Given the description of an element on the screen output the (x, y) to click on. 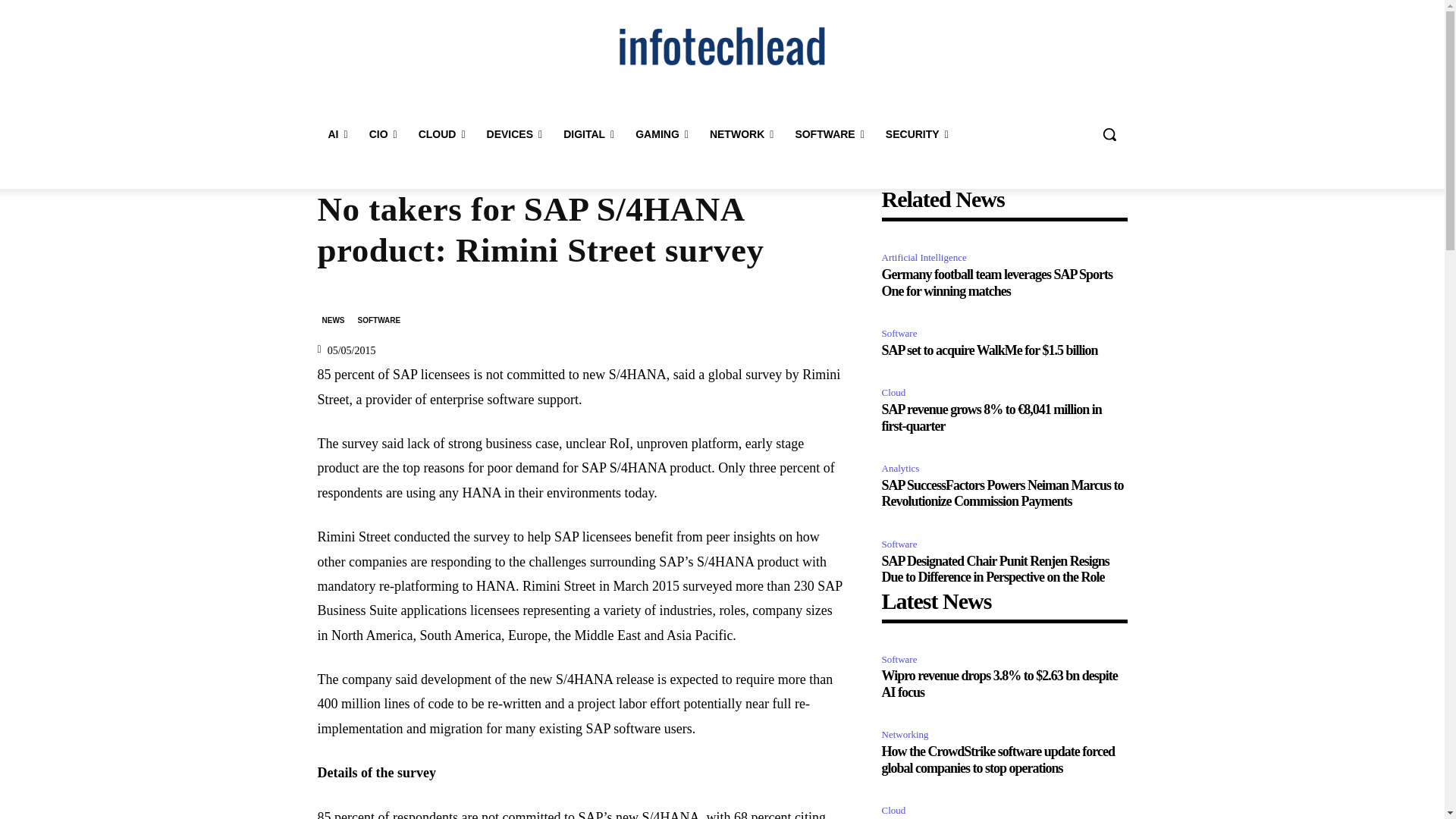
AI (337, 134)
CIO (382, 134)
